Given the description of an element on the screen output the (x, y) to click on. 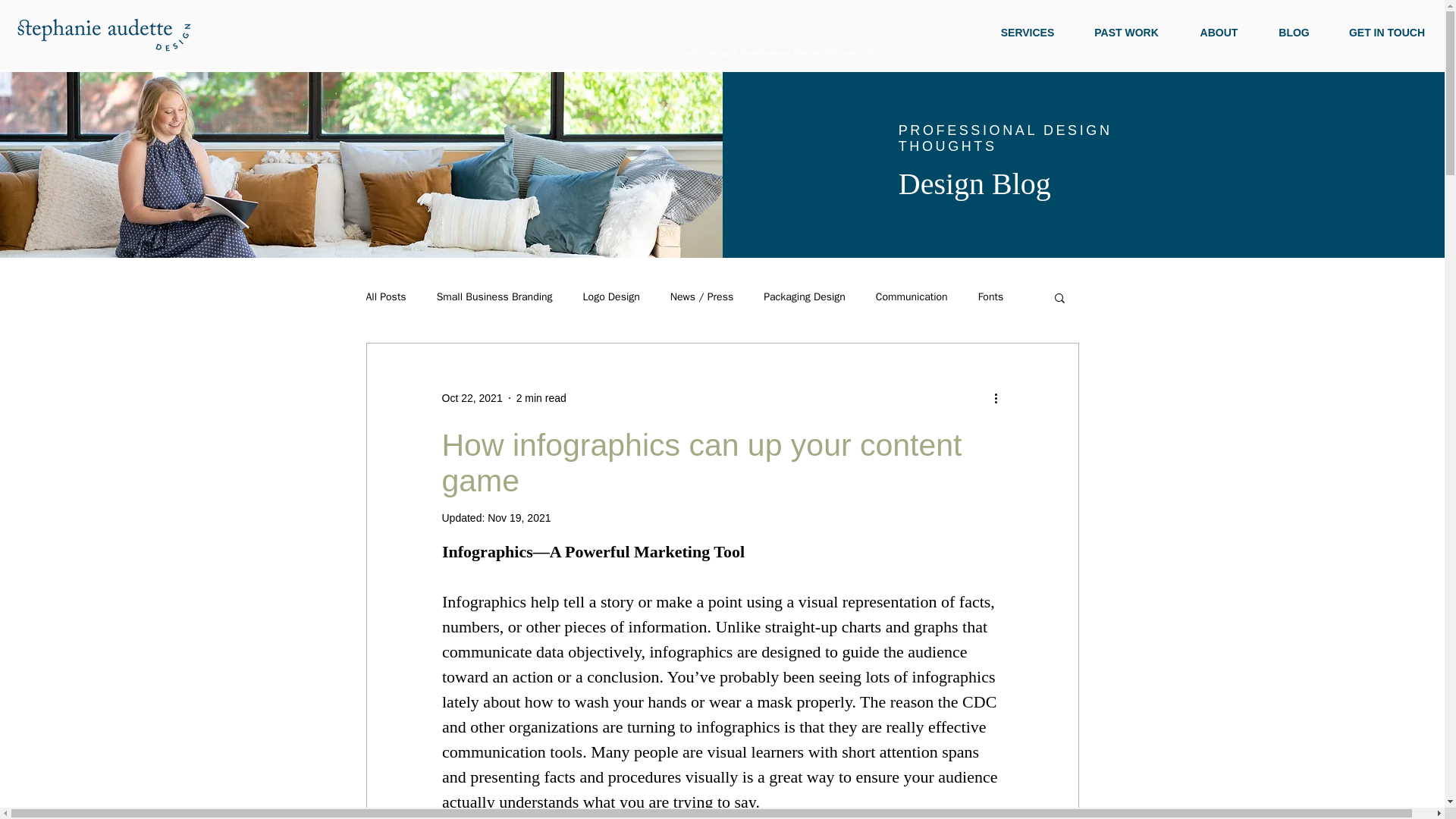
ABOUT (1219, 32)
Fonts (991, 296)
GET IN TOUCH (1386, 32)
Nov 19, 2021 (518, 517)
2 min read (541, 397)
BLOG (1294, 32)
Packaging Design (803, 296)
Small Business Branding (494, 296)
Logo Design (611, 296)
All Posts (385, 296)
SERVICES (1027, 32)
Communication (911, 296)
Oct 22, 2021 (471, 397)
